Given the description of an element on the screen output the (x, y) to click on. 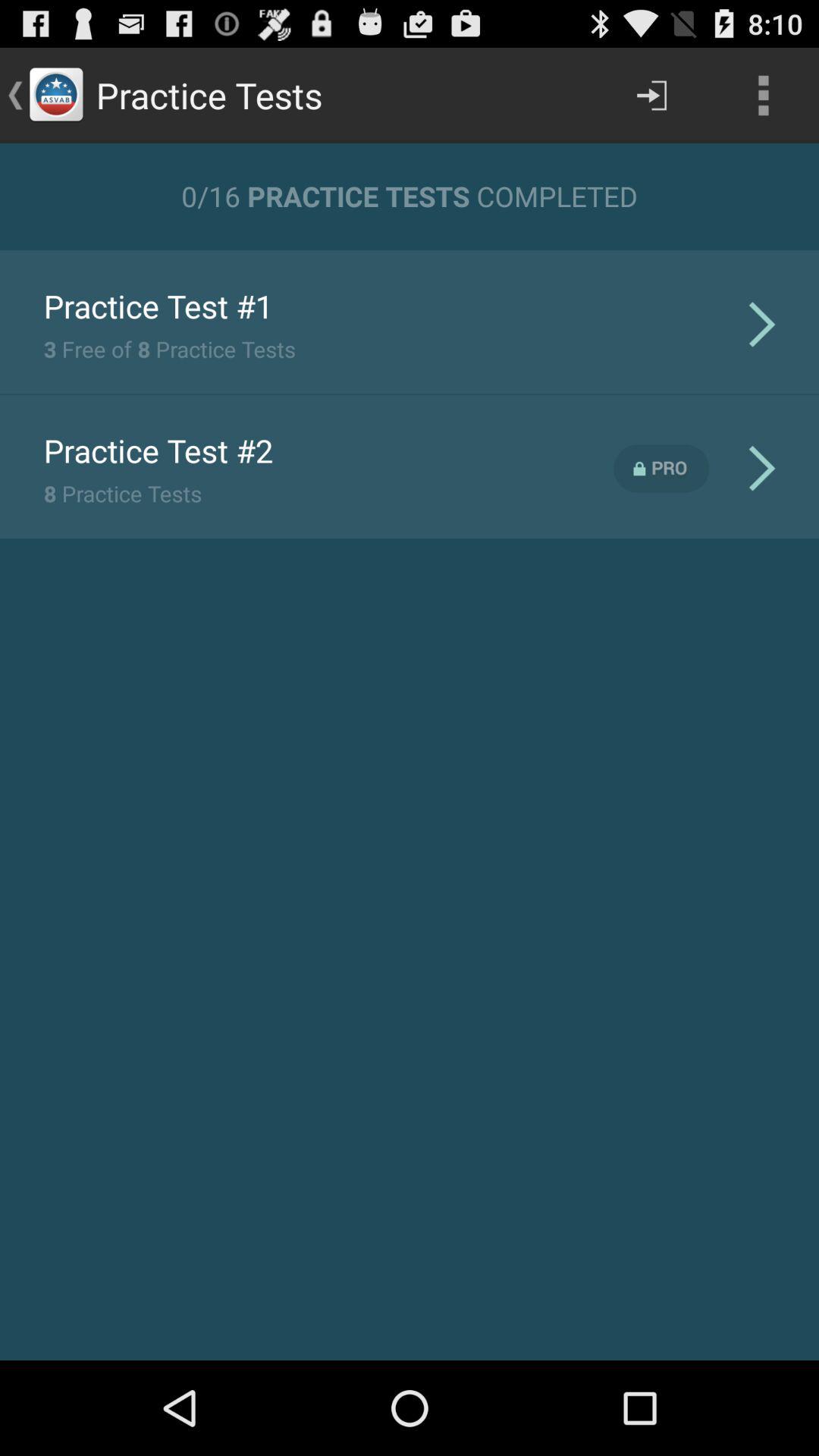
select 3 free of (169, 348)
